Given the description of an element on the screen output the (x, y) to click on. 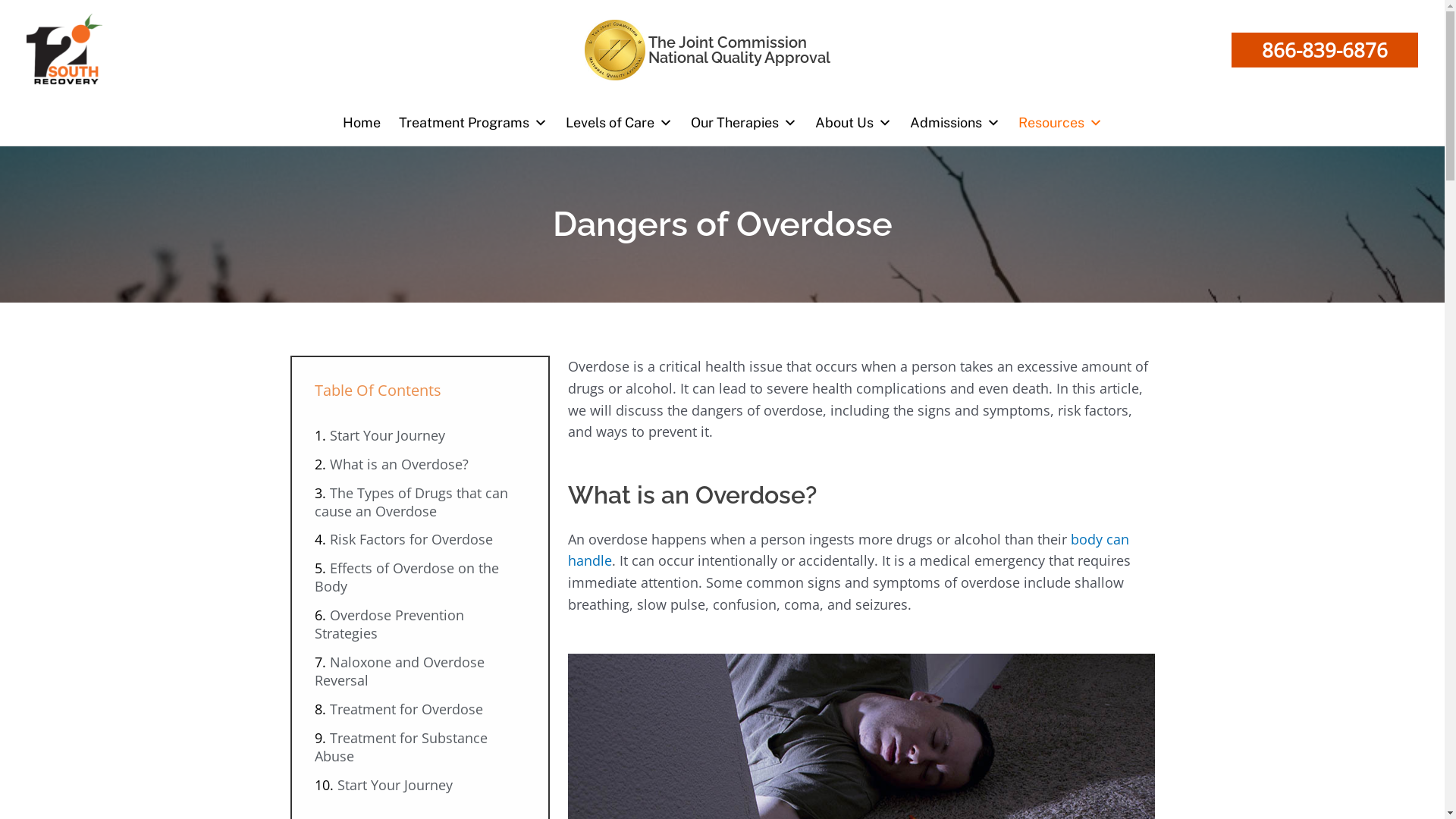
866-839-6876 Element type: text (1324, 49)
Admissions Element type: text (954, 122)
What is an Overdose? Element type: text (398, 464)
The Types of Drugs that can cause an Overdose Element type: text (410, 501)
Home Element type: text (361, 122)
Start Your Journey Element type: text (393, 784)
Levels of Care Element type: text (618, 122)
Our Therapies Element type: text (742, 122)
Naloxone and Overdose Reversal Element type: text (398, 670)
About Us Element type: text (852, 122)
Risk Factors for Overdose Element type: text (410, 539)
Resources Element type: text (1059, 122)
Treatment Programs Element type: text (472, 122)
Treatment for Substance Abuse Element type: text (399, 746)
Effects of Overdose on the Body Element type: text (405, 576)
body can handle Element type: text (847, 550)
Overdose Prevention Strategies Element type: text (388, 623)
Start Your Journey Element type: text (386, 435)
Treatment for Overdose Element type: text (405, 708)
